Given the description of an element on the screen output the (x, y) to click on. 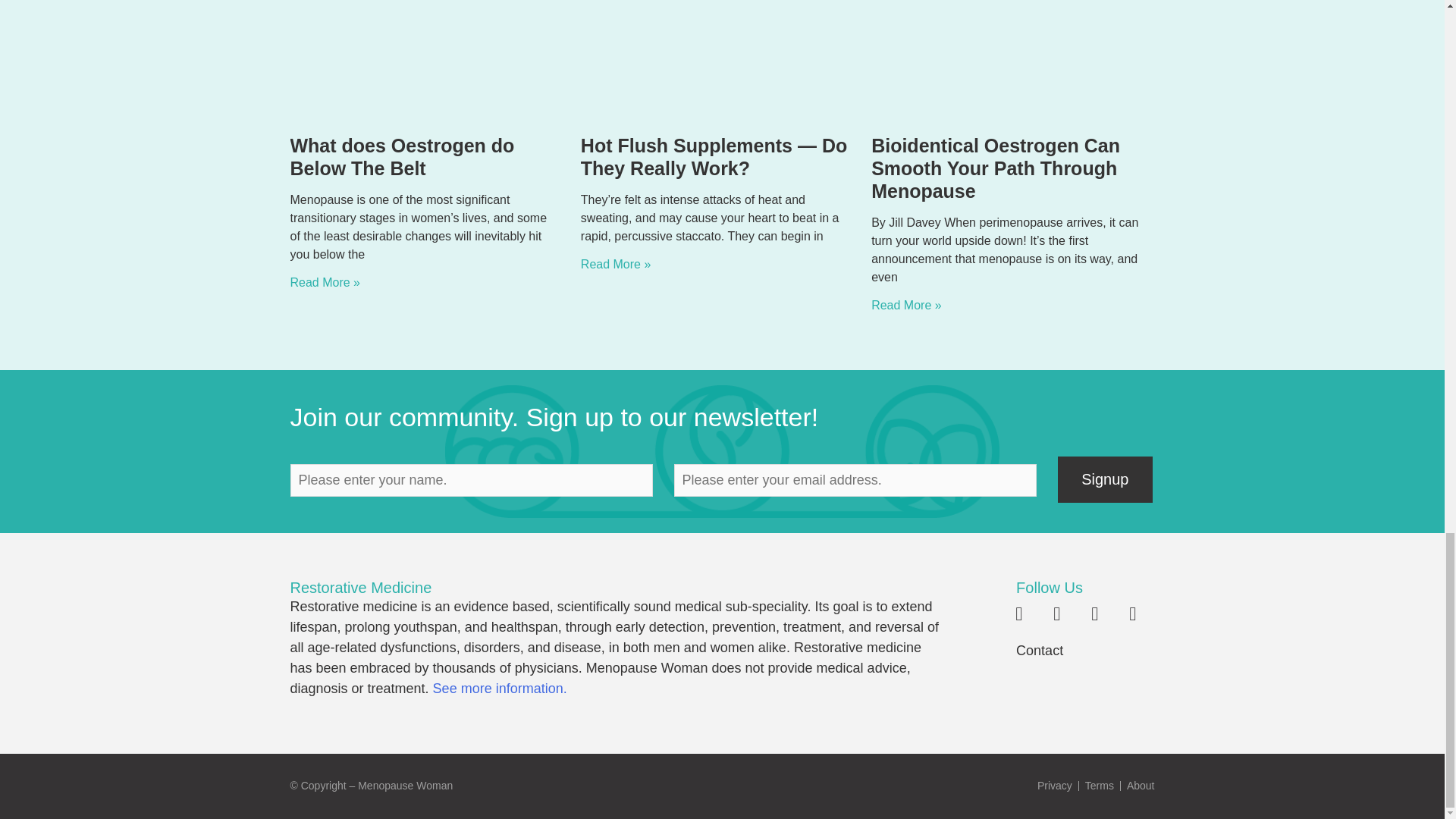
Signup (1105, 479)
